Given the description of an element on the screen output the (x, y) to click on. 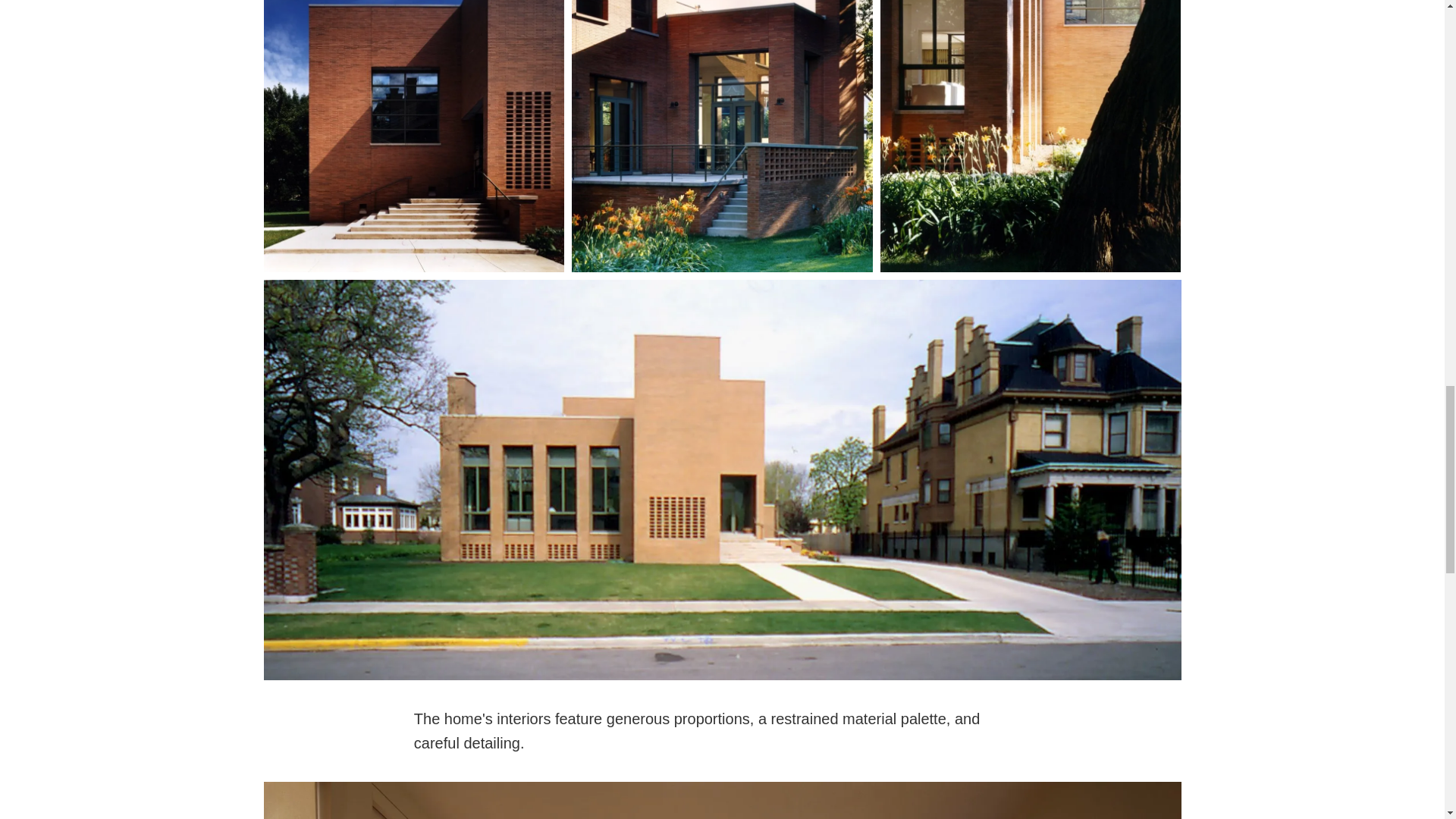
S Kenwood 9 (722, 136)
S Kenwood 3 (413, 136)
S Kenwood 10 (1030, 136)
